Given the description of an element on the screen output the (x, y) to click on. 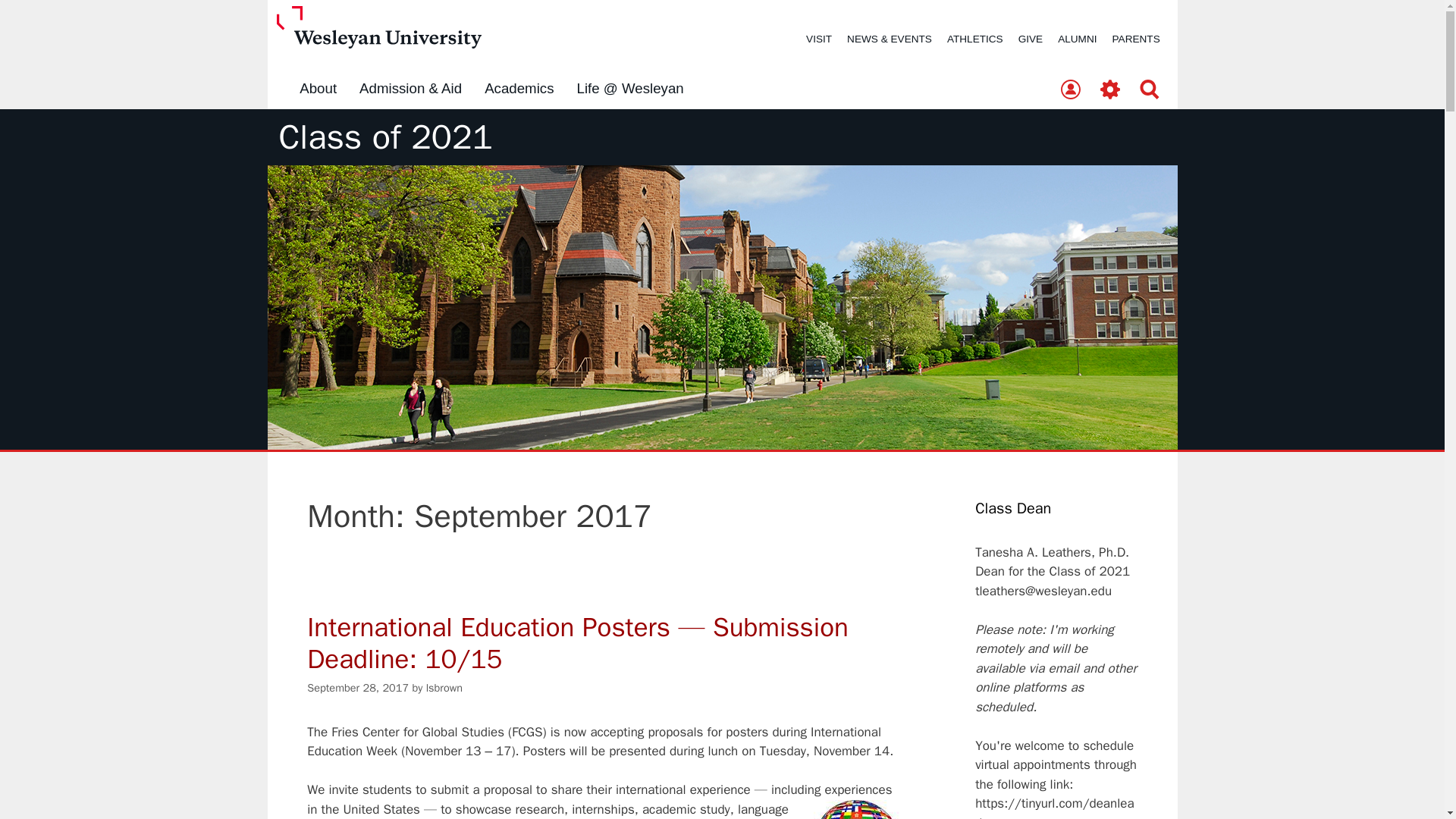
PARENTS (1136, 39)
lsbrown (444, 687)
Tools (1109, 90)
ALUMNI (1076, 39)
Academics (518, 89)
Search (1149, 90)
ATHLETICS (974, 39)
About (317, 89)
VISIT (818, 39)
Class of 2021 (386, 137)
